Given the description of an element on the screen output the (x, y) to click on. 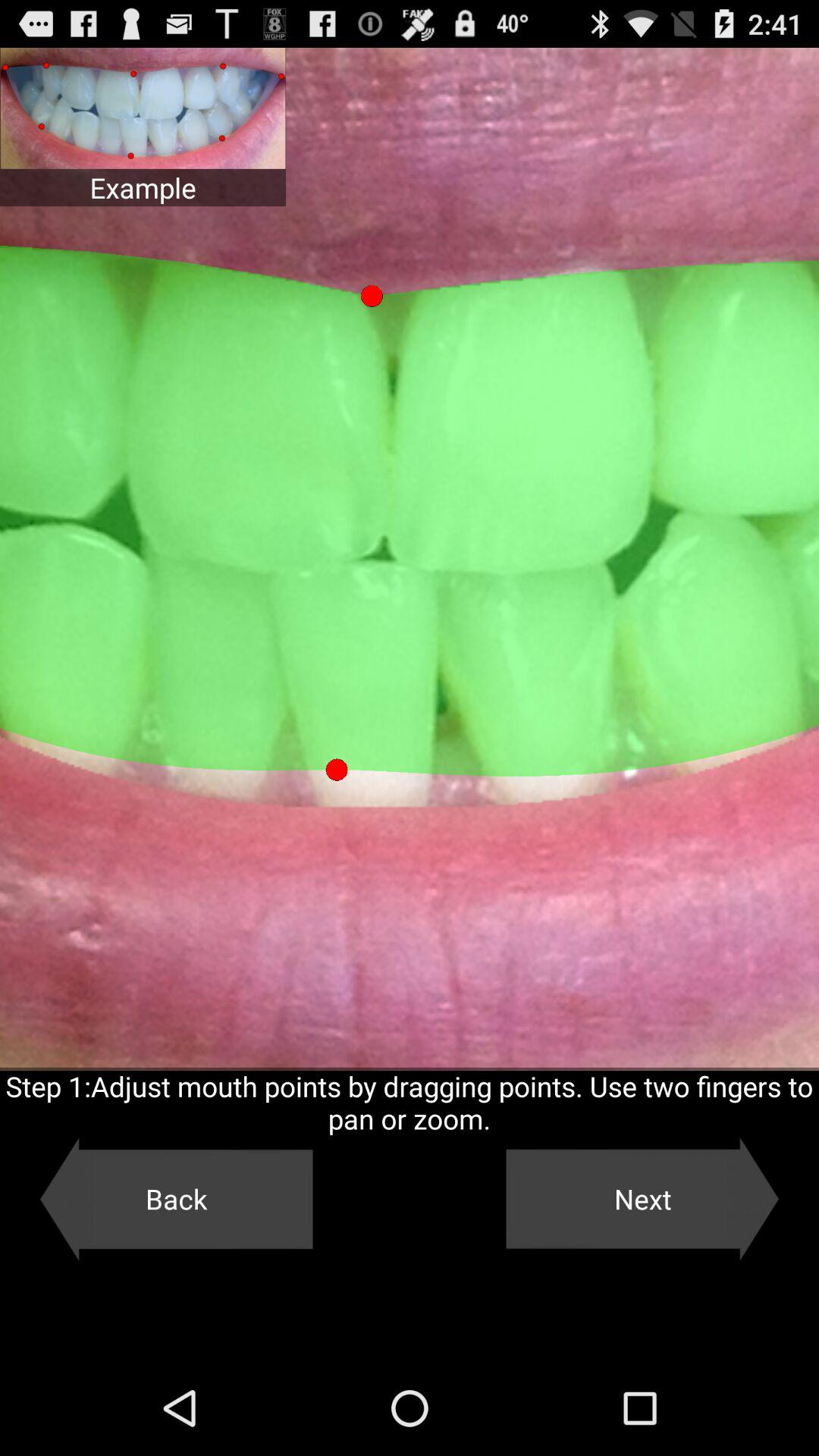
turn off the next item (642, 1198)
